Given the description of an element on the screen output the (x, y) to click on. 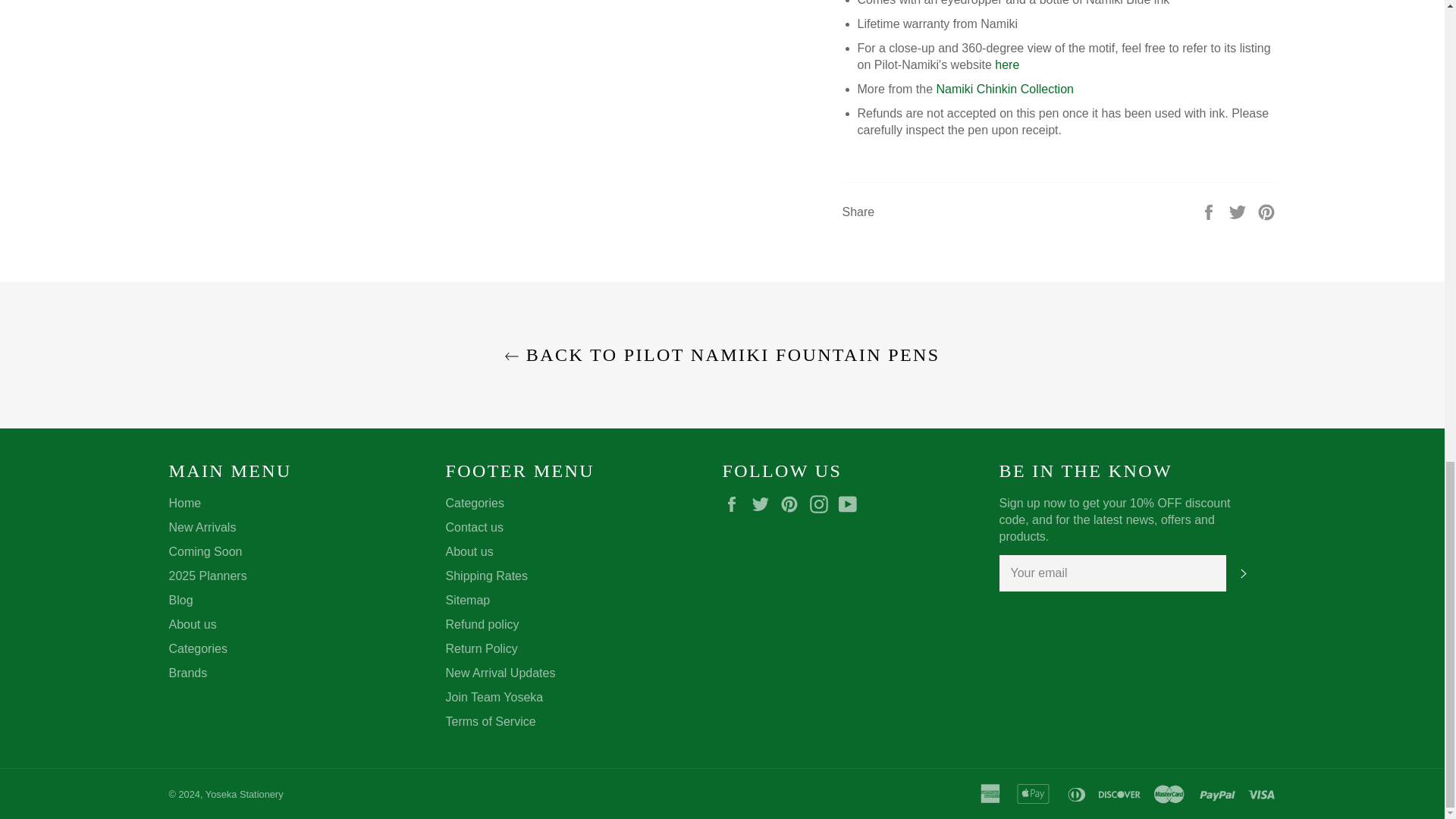
Yoseka Stationery on Twitter (764, 504)
Yoseka Stationery on Facebook (735, 504)
Share on Facebook (1210, 210)
Yoseka Stationery on Pinterest (793, 504)
Yoseka Stationery on Instagram (822, 504)
Tweet on Twitter (1238, 210)
Pin on Pinterest (1266, 210)
Yoseka Stationery on YouTube (851, 504)
